Given the description of an element on the screen output the (x, y) to click on. 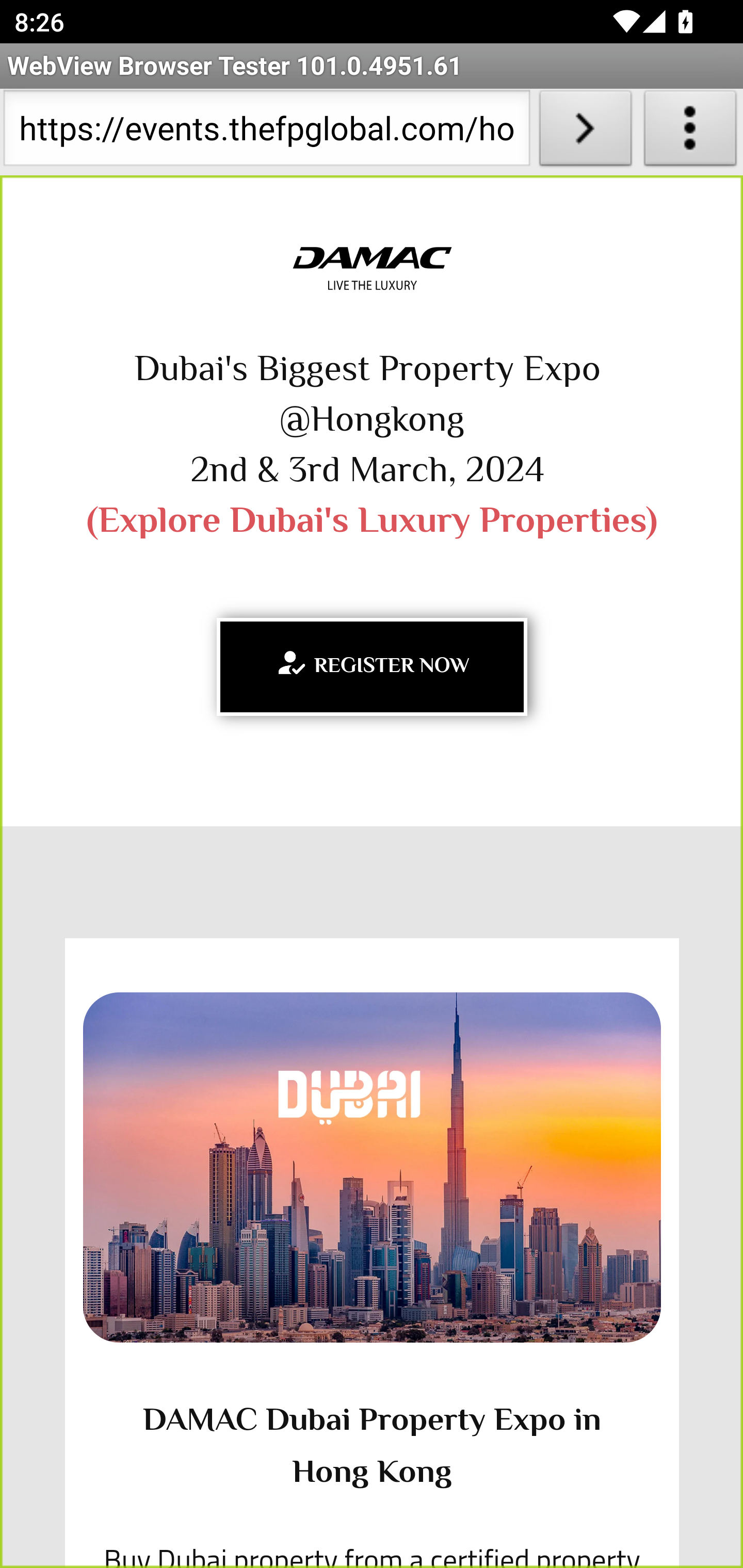
Load URL (585, 132)
About WebView (690, 132)
fp global DamacLogo1 (371, 268)
 REGISTER NOW (371, 666)
